Given the description of an element on the screen output the (x, y) to click on. 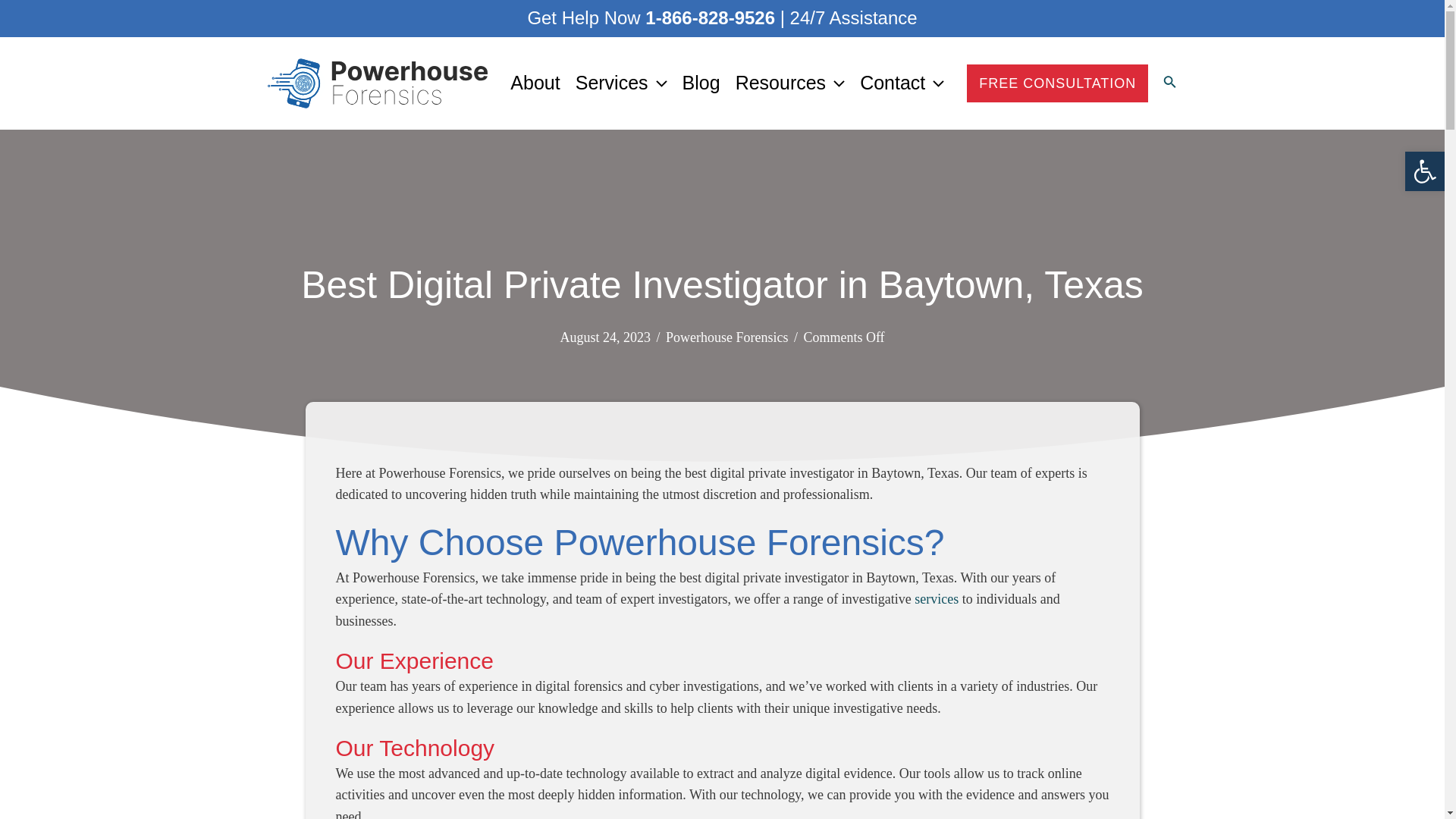
services (936, 598)
Accessibility Tools (1424, 170)
Services (621, 82)
About (534, 82)
